Given the description of an element on the screen output the (x, y) to click on. 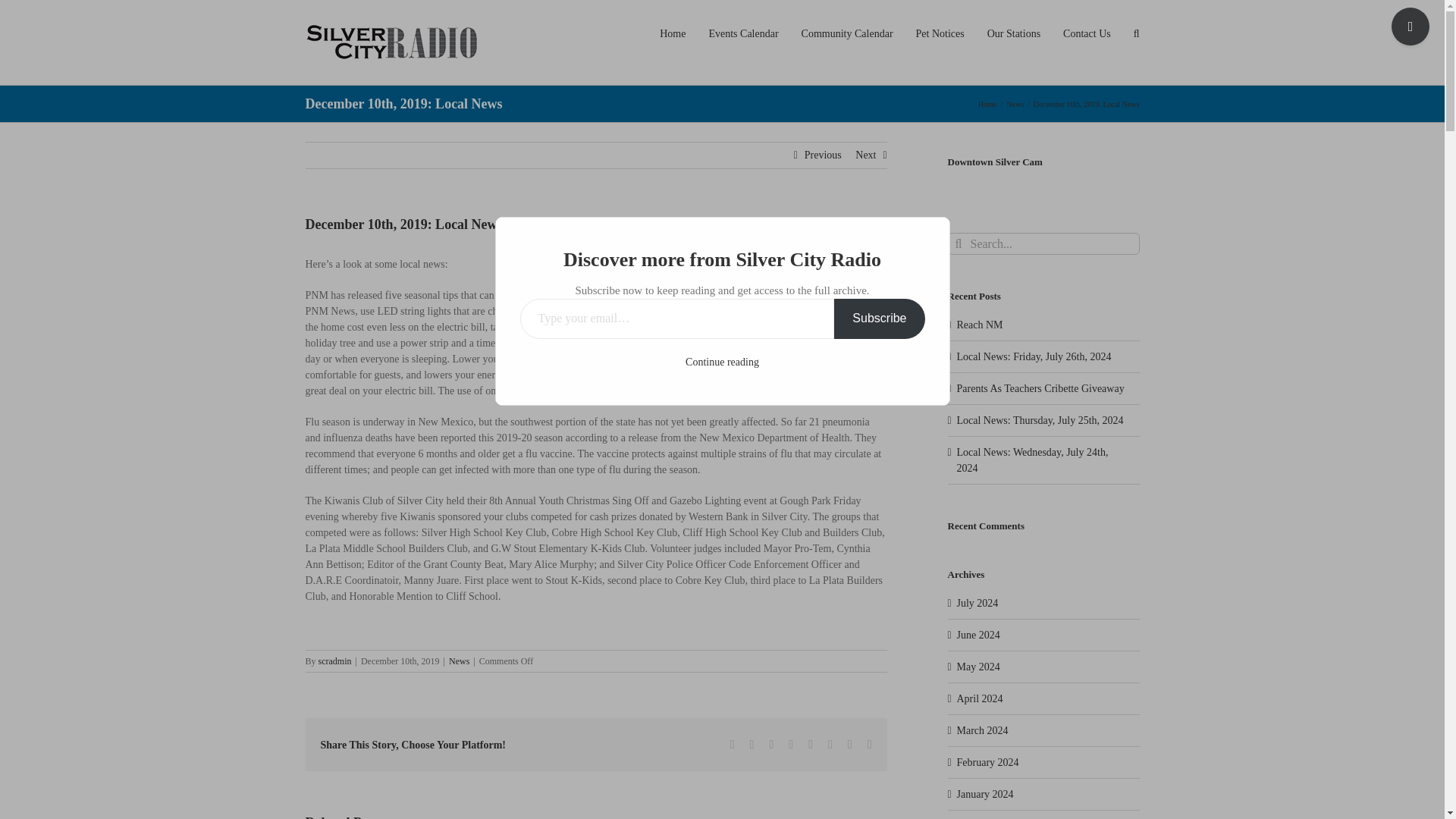
Home (986, 103)
Reach NM (979, 324)
Events Calendar (742, 32)
News (458, 661)
Community Calendar (847, 32)
scradmin (335, 661)
Previous (823, 155)
News (1014, 103)
Posts by scradmin (335, 661)
